Given the description of an element on the screen output the (x, y) to click on. 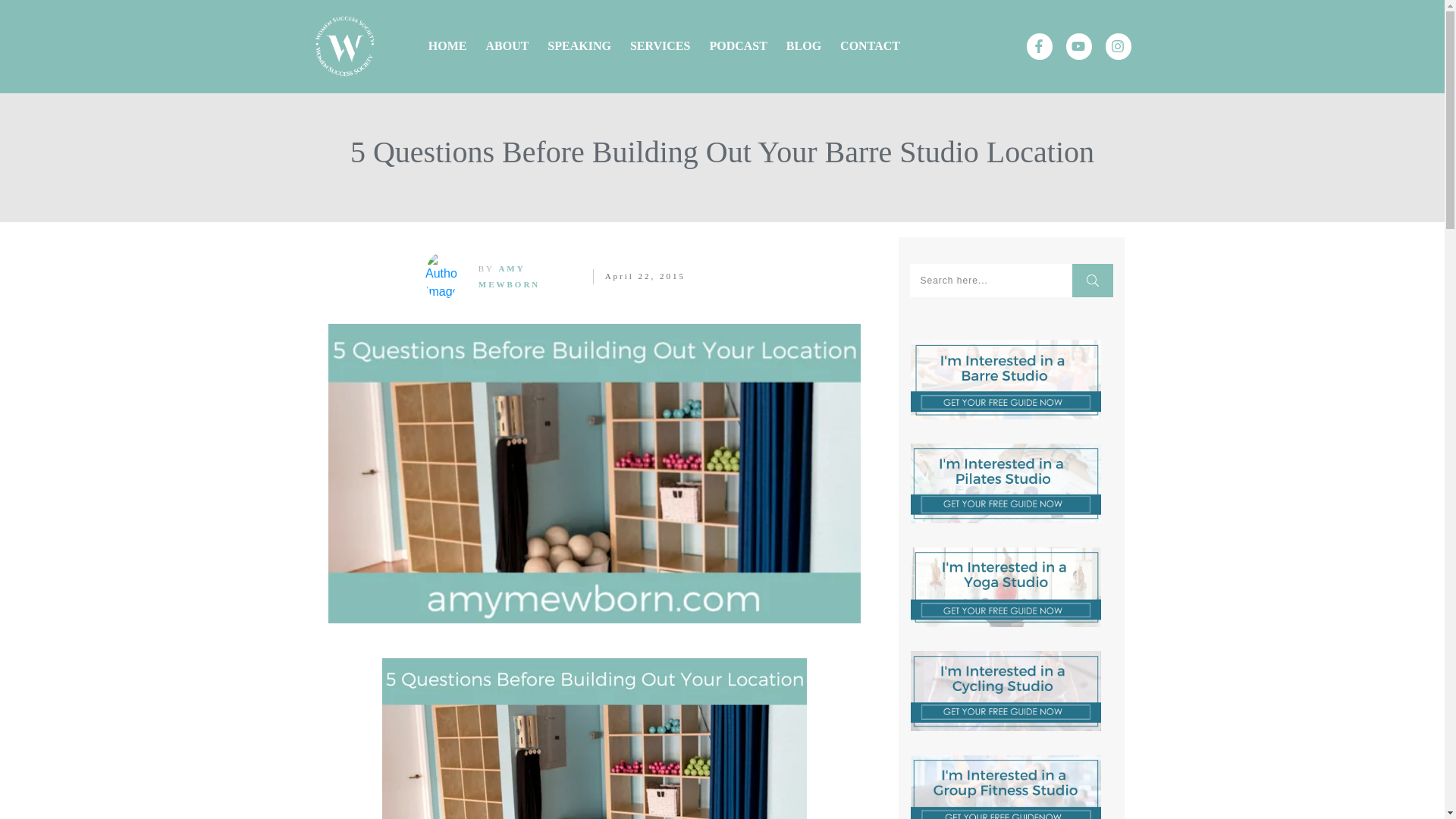
BLOG (803, 46)
5 Questions Before Building Out Your Barre Studio Location (722, 151)
WSS Logo White Circle (344, 46)
AMY MEWBORN (509, 276)
ABOUT (506, 46)
5 Questions Before Building Out Your Barre Studio Location (722, 151)
SPEAKING (579, 46)
HOME (447, 46)
CONTACT (869, 46)
